Given the description of an element on the screen output the (x, y) to click on. 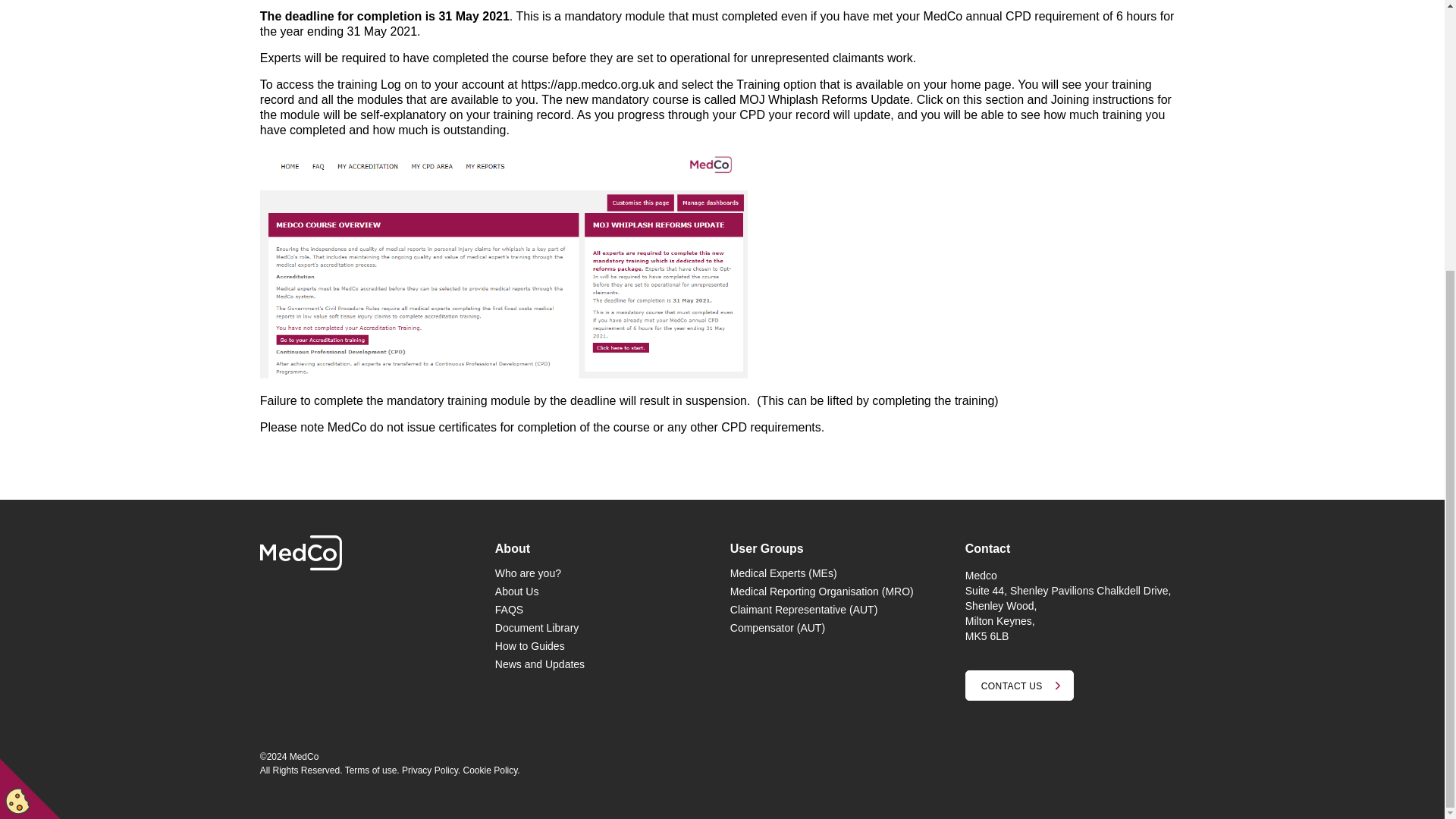
Who are you? (527, 573)
News and Updates (540, 664)
FAQS (508, 609)
Cookie Policy. (491, 769)
Terms of use. (371, 769)
How to Guides (529, 645)
Privacy Policy. (430, 769)
Document Library (537, 627)
CONTACT US (1019, 685)
About Us (516, 591)
